Given the description of an element on the screen output the (x, y) to click on. 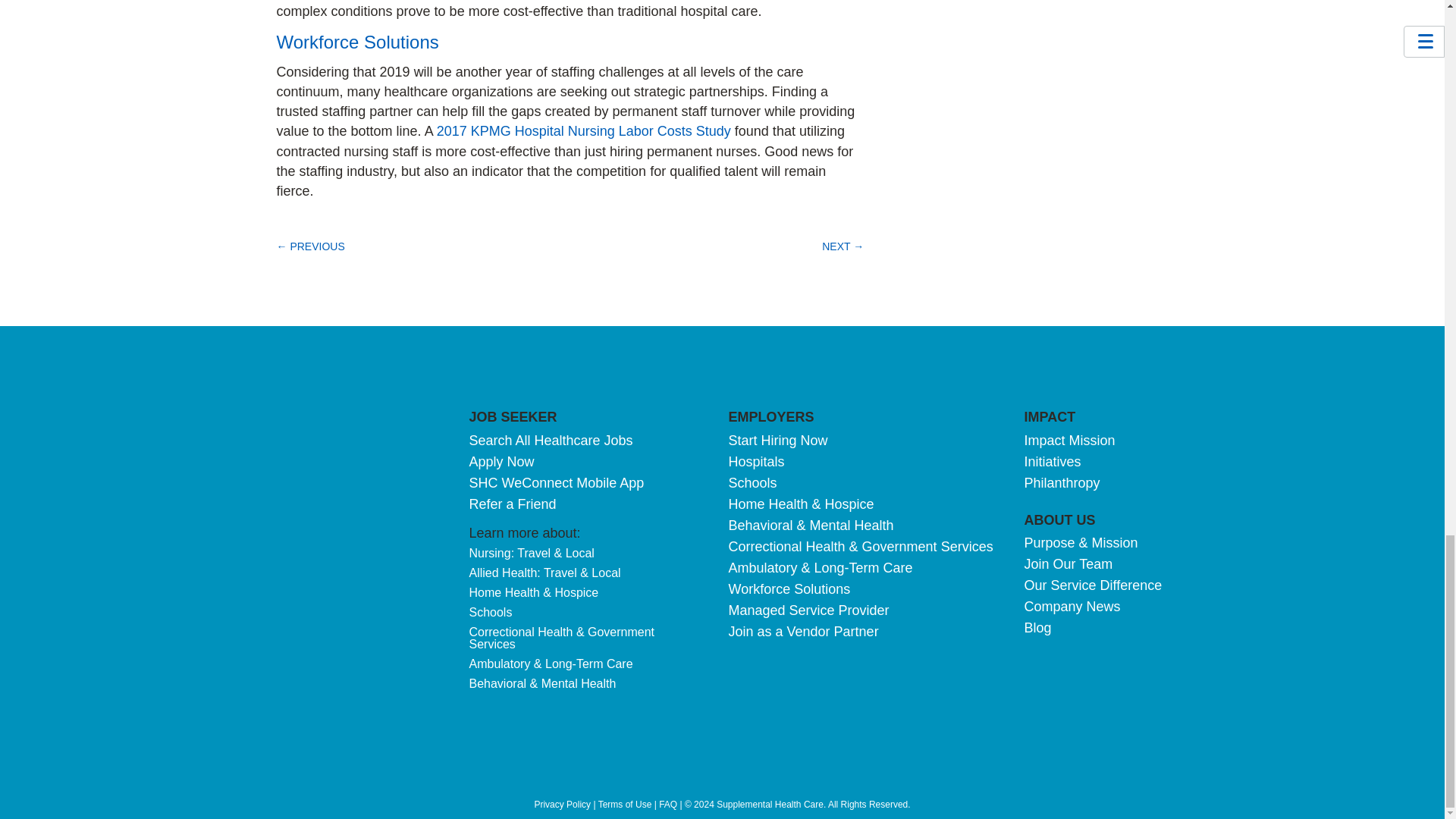
Impact (1049, 417)
About Us (1058, 519)
Employers (770, 417)
2017 KPMG Hospital Nursing Labor Costs Study (583, 130)
Job Seeker (512, 417)
